Given the description of an element on the screen output the (x, y) to click on. 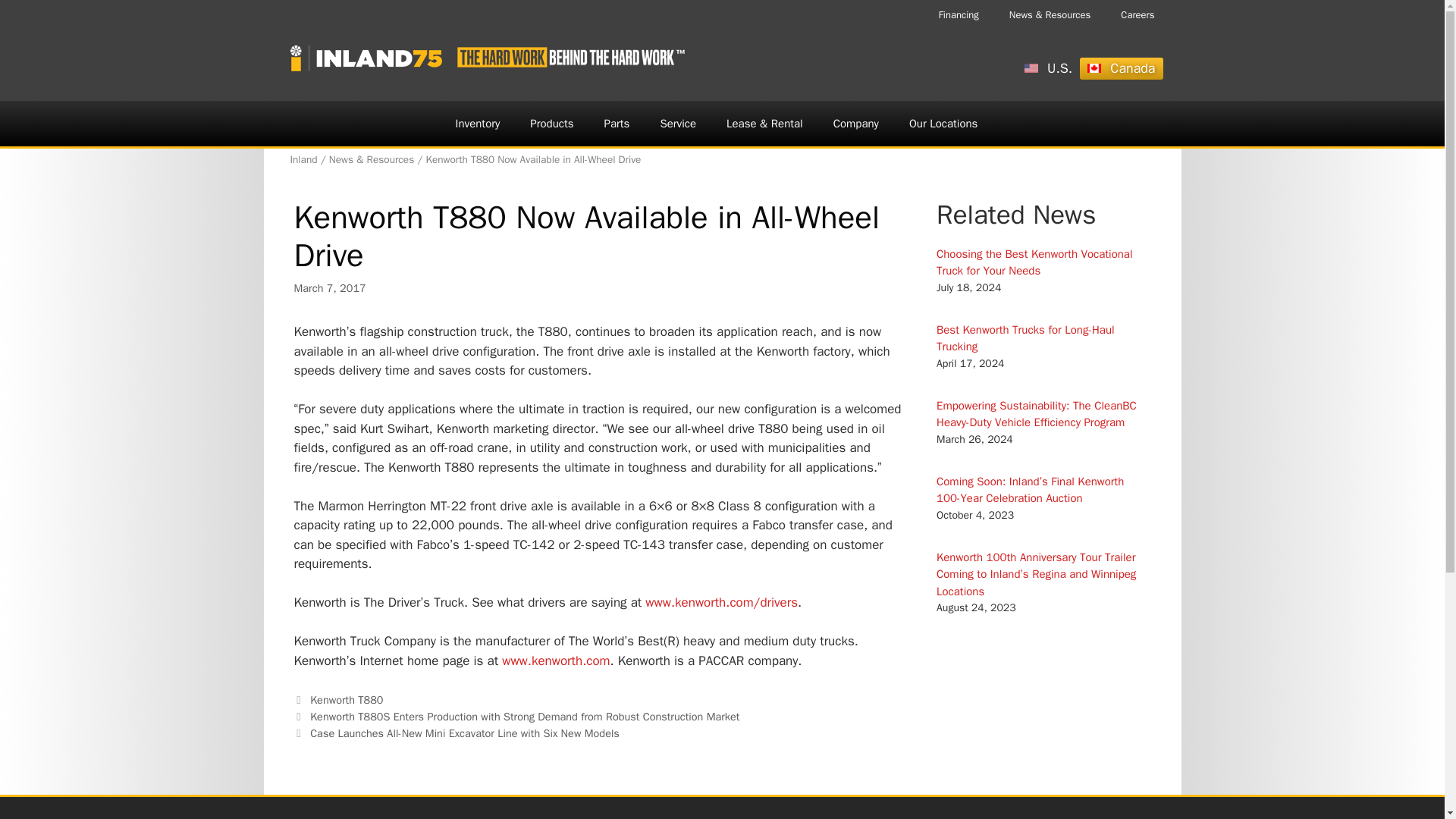
Financing (958, 15)
U.S. (1048, 68)
Parts (617, 123)
Careers (1137, 15)
Inland (303, 159)
Our Locations (942, 123)
www.kenworth.com (556, 660)
Kenworth T880 (346, 699)
Go to Inland. (303, 159)
Canada (1120, 68)
